Given the description of an element on the screen output the (x, y) to click on. 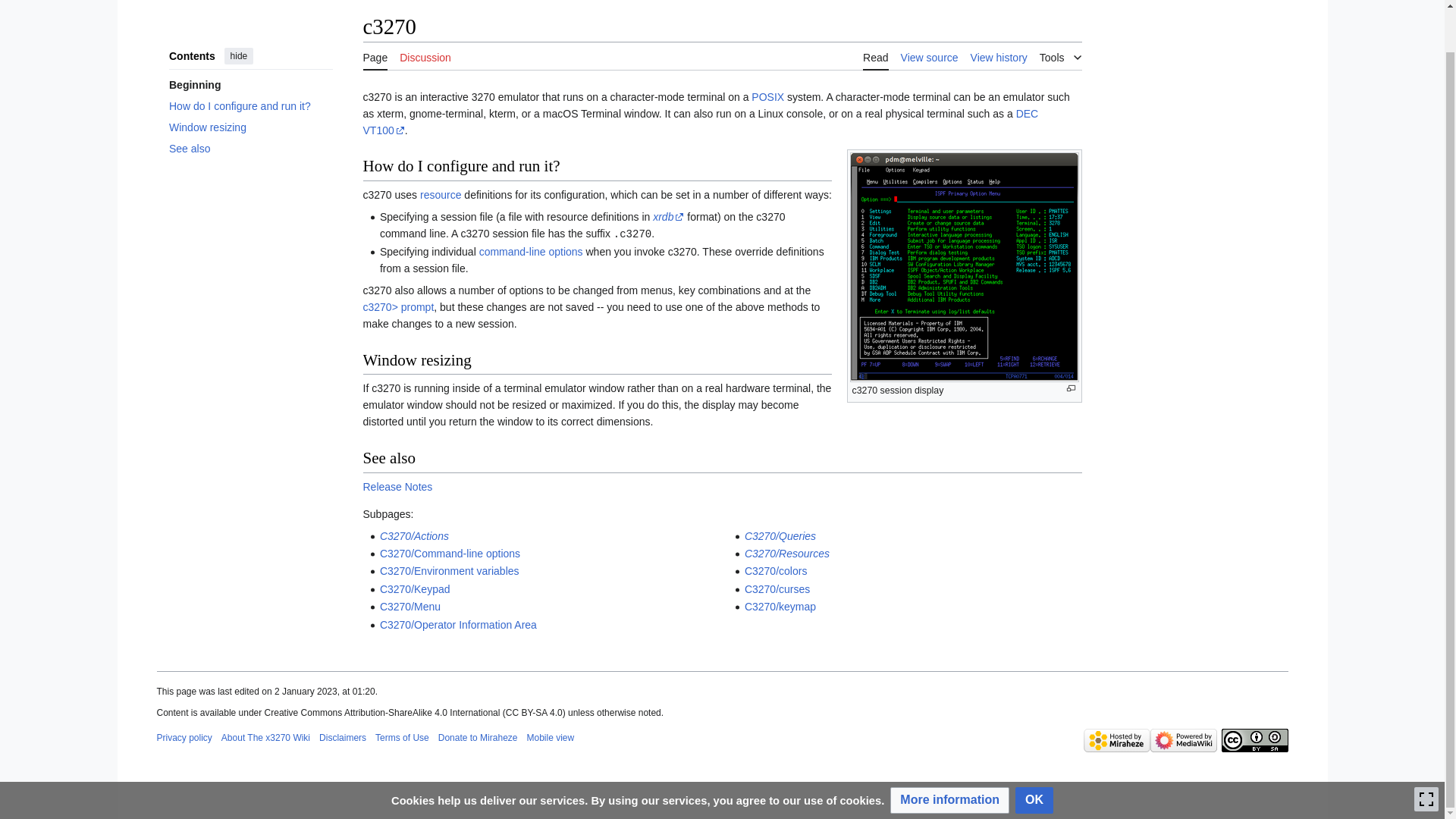
View source (929, 56)
Discussion (424, 56)
Beginning (249, 84)
Window resizing (249, 127)
Read (875, 56)
See also (249, 148)
Page (374, 56)
How do I configure and run it? (249, 106)
View history (999, 56)
hide (238, 55)
